Given the description of an element on the screen output the (x, y) to click on. 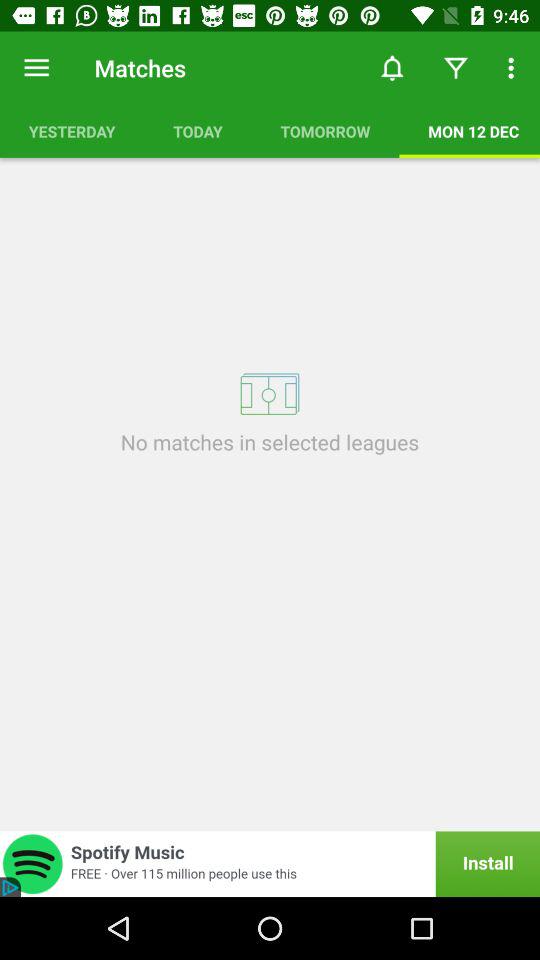
turn on the item to the left of the matches item (36, 68)
